Given the description of an element on the screen output the (x, y) to click on. 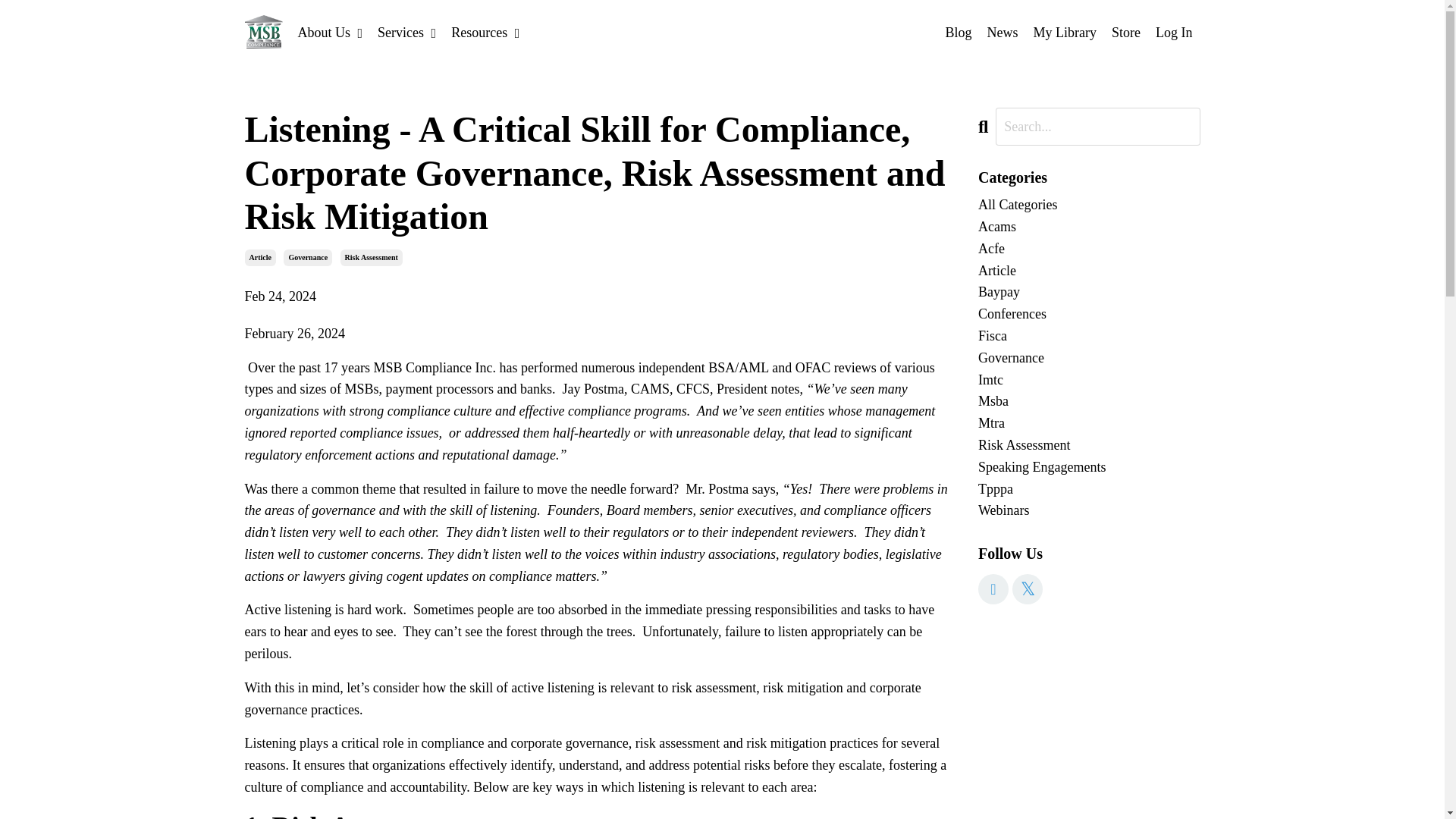
Log In (1174, 32)
Msba (1088, 401)
Governance (307, 257)
Article (259, 257)
Baypay (1088, 292)
Resources (485, 33)
Risk Assessment (371, 257)
Fisca (1088, 336)
Imtc (1088, 380)
Governance (1088, 358)
